Given the description of an element on the screen output the (x, y) to click on. 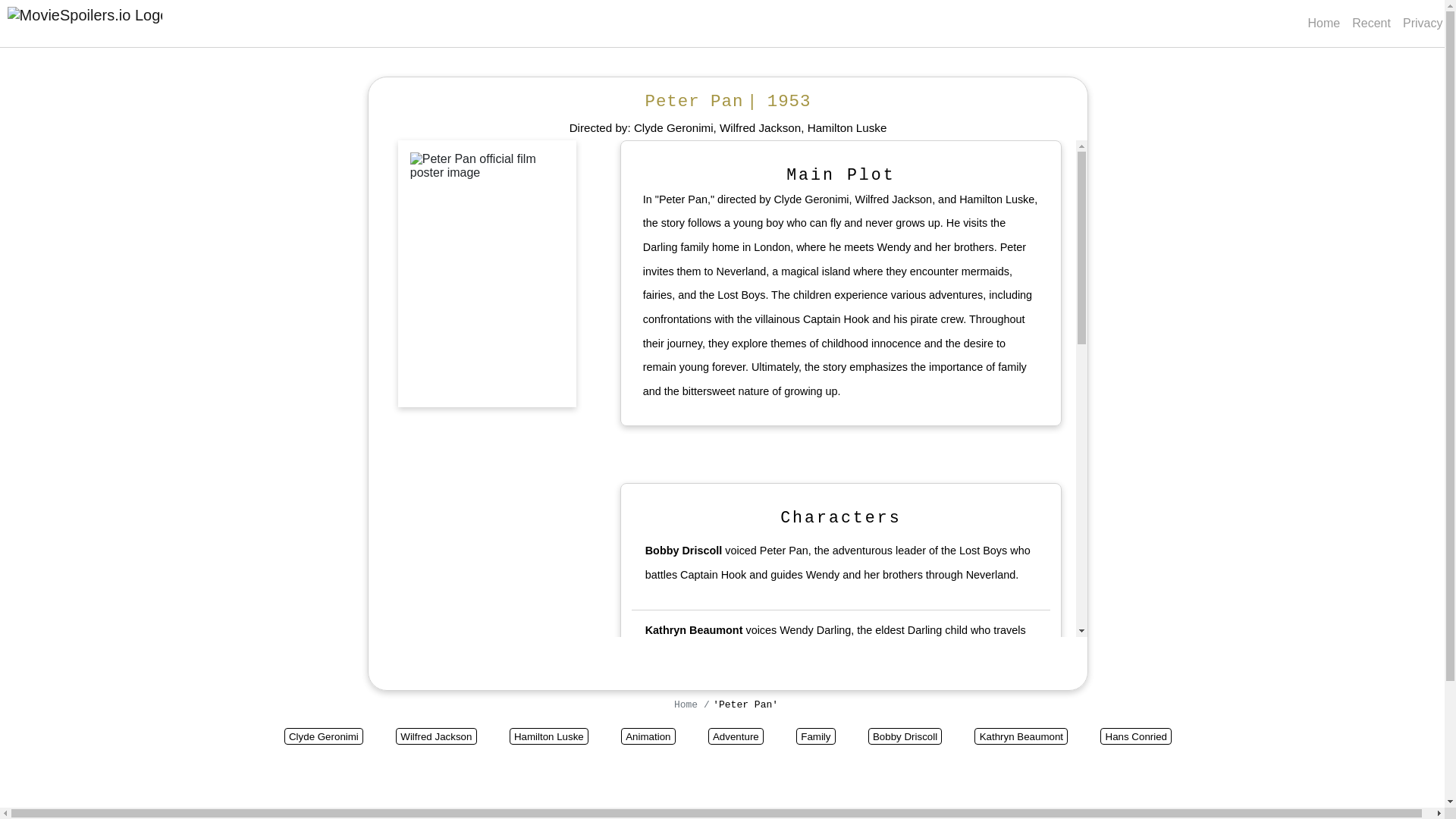
Hans Conried (680, 734)
Hamilton Luske (847, 127)
Hamilton Luske (549, 736)
Recent (1370, 22)
Home (688, 704)
Hans Conried (1136, 736)
1953 (788, 101)
Wilfred Jackson (436, 736)
Bobby Driscoll (683, 550)
Adventure (734, 736)
